Given the description of an element on the screen output the (x, y) to click on. 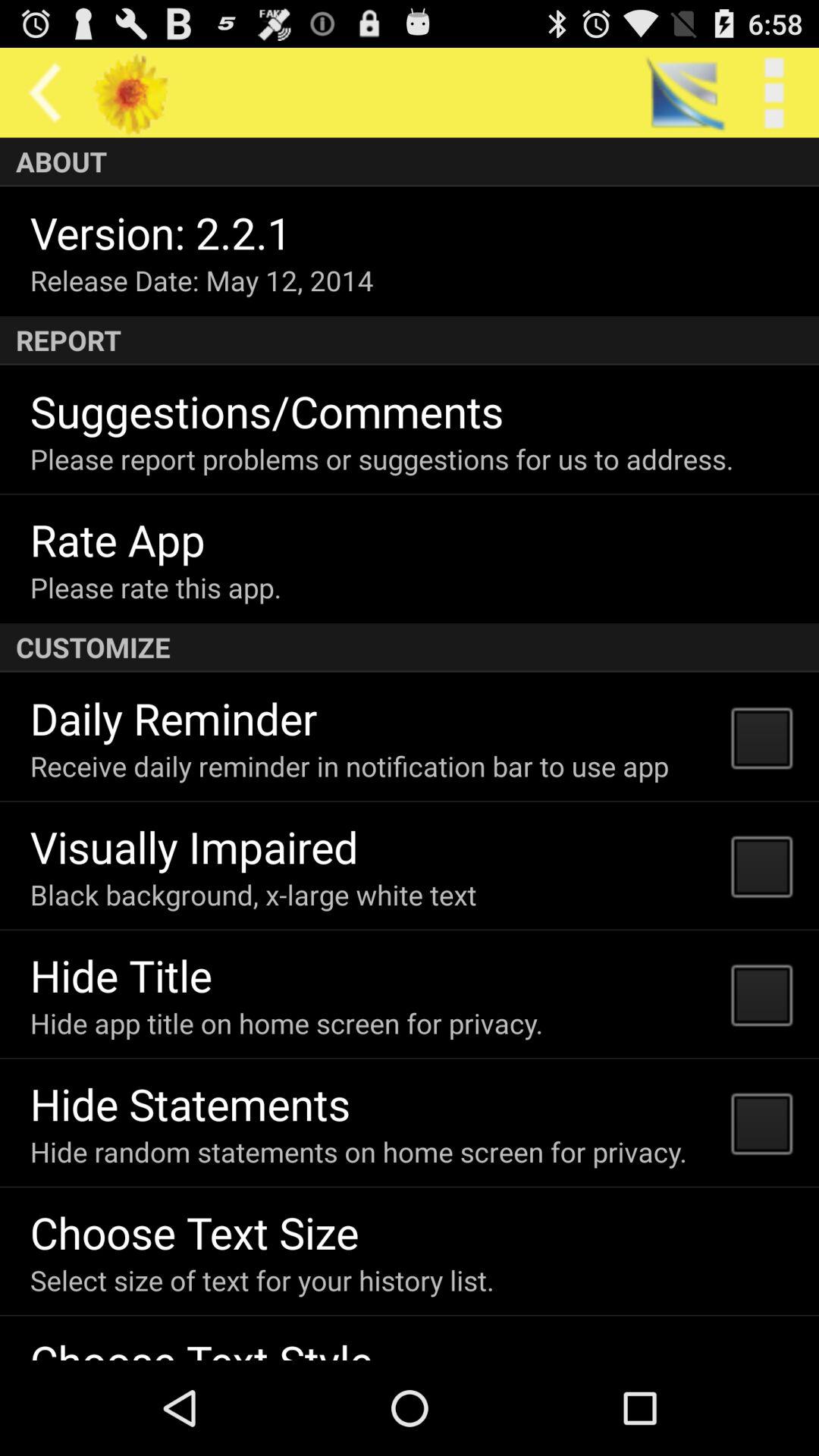
jump to the suggestions/comments (266, 410)
